Given the description of an element on the screen output the (x, y) to click on. 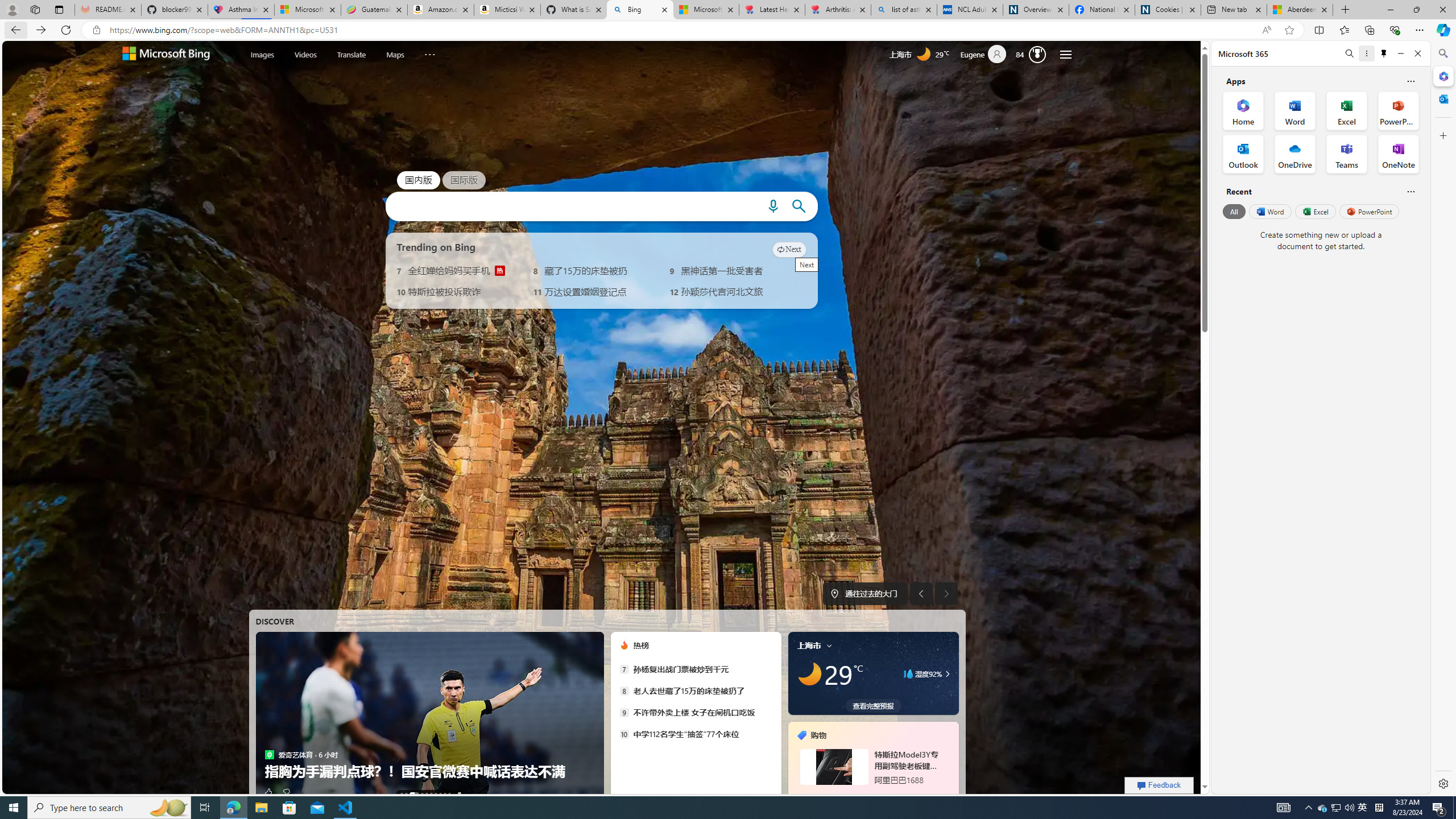
Maps (394, 54)
Teams Office App (1346, 154)
Arthritis: Ask Health Professionals (838, 9)
AutomationID: tab-1 (405, 793)
Next image (946, 593)
tab-8 (866, 795)
tab-11 (887, 795)
